Given the description of an element on the screen output the (x, y) to click on. 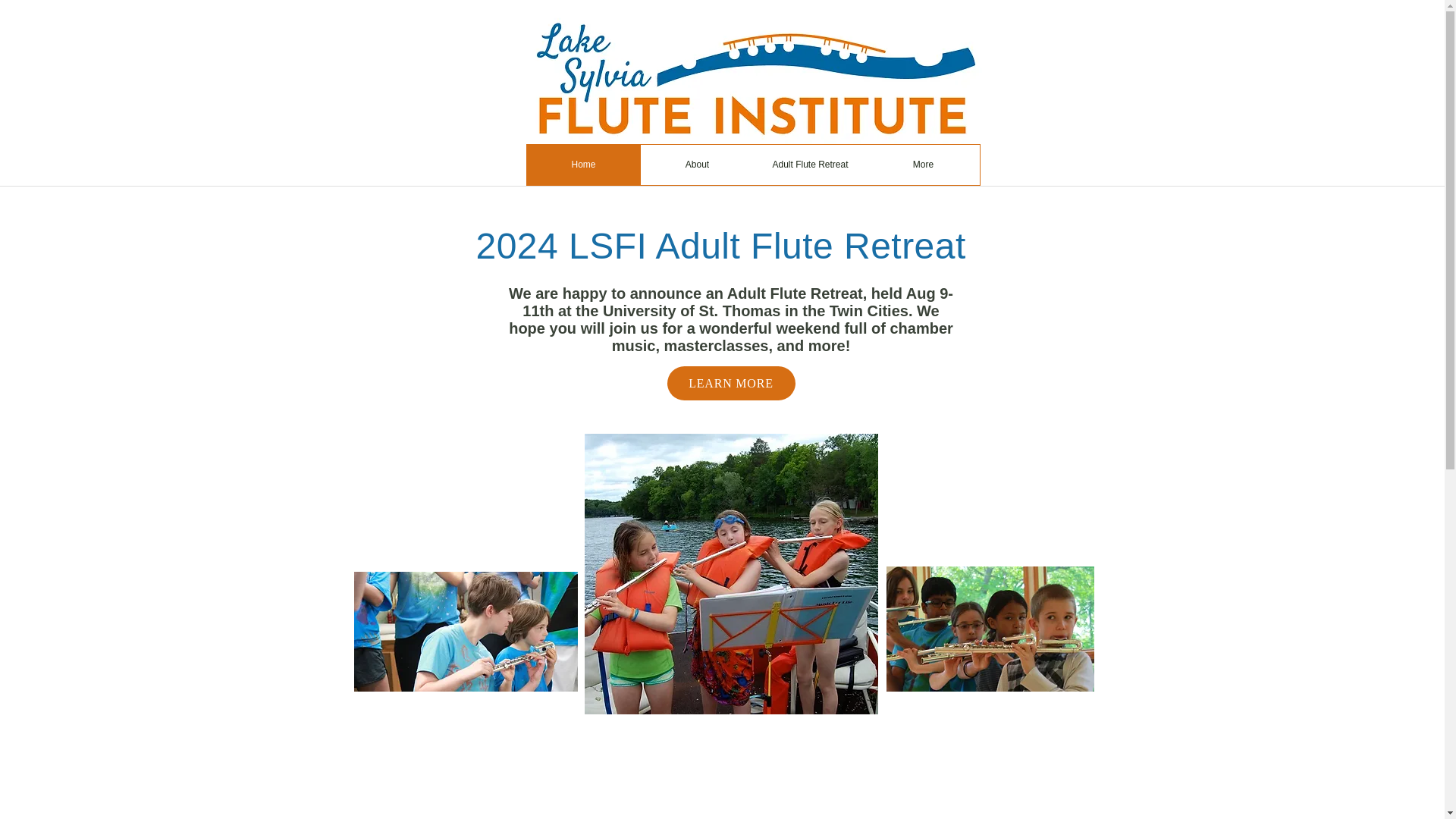
Home (582, 164)
LEARN MORE (730, 383)
boatflute.jpg (730, 574)
About (696, 164)
Adult Flute Retreat (810, 164)
